Given the description of an element on the screen output the (x, y) to click on. 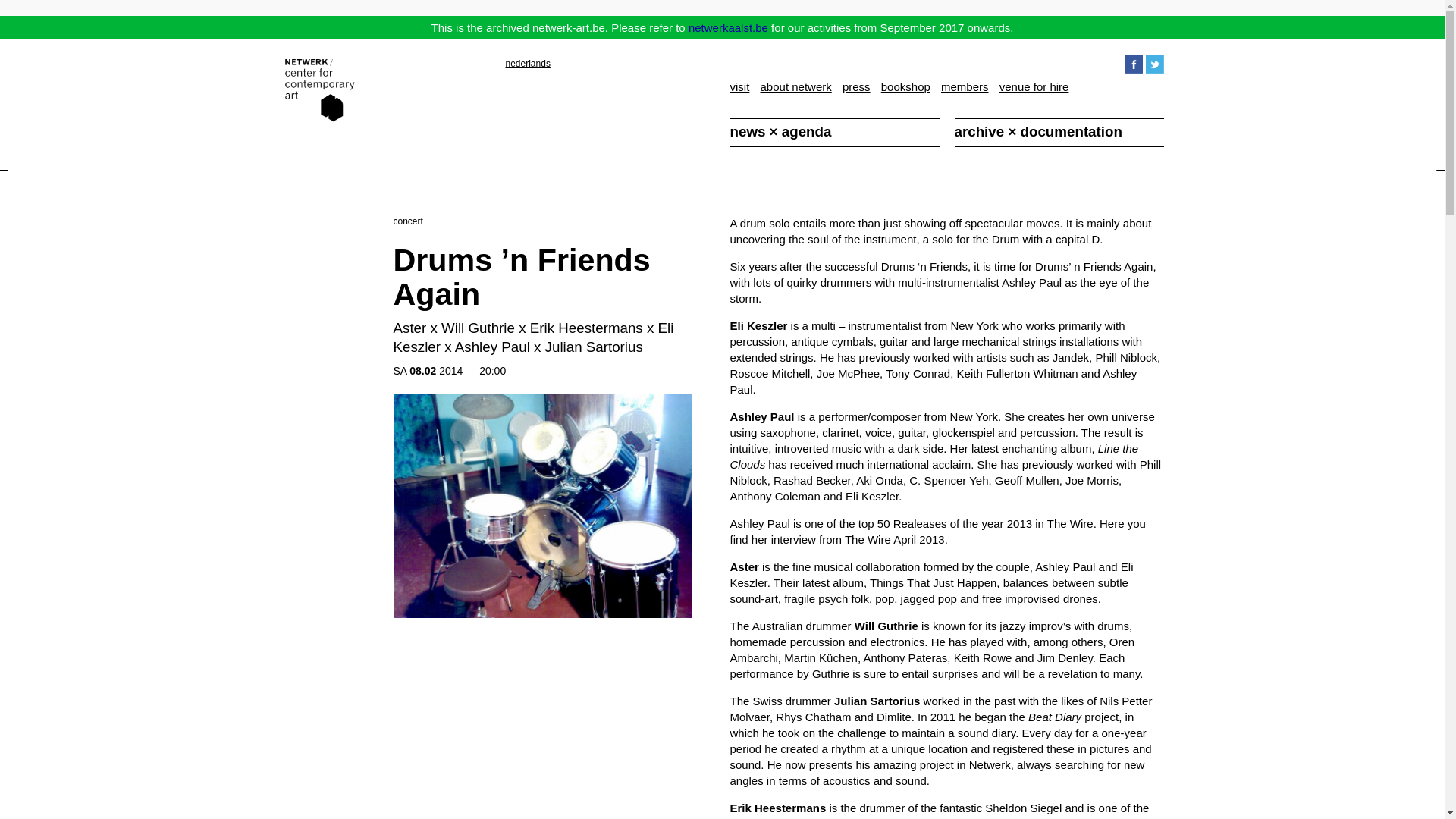
Twitter (1153, 63)
netwerkaalst.be (728, 27)
bookshop (905, 86)
about netwerk (795, 86)
visit (739, 86)
members (964, 86)
press (856, 86)
nederlands (527, 63)
Facebook (1134, 63)
